Given the description of an element on the screen output the (x, y) to click on. 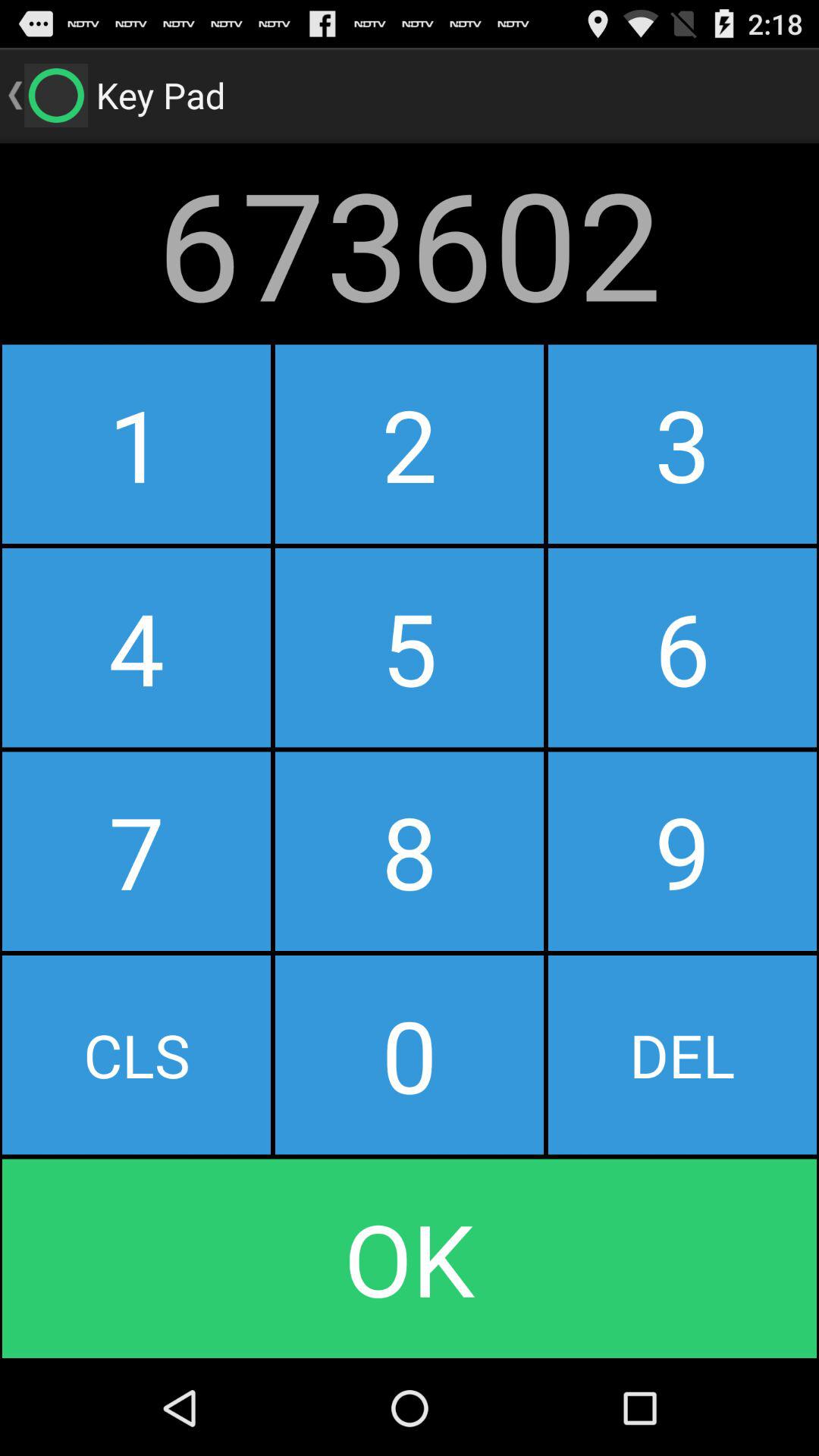
jump until the del button (682, 1054)
